Given the description of an element on the screen output the (x, y) to click on. 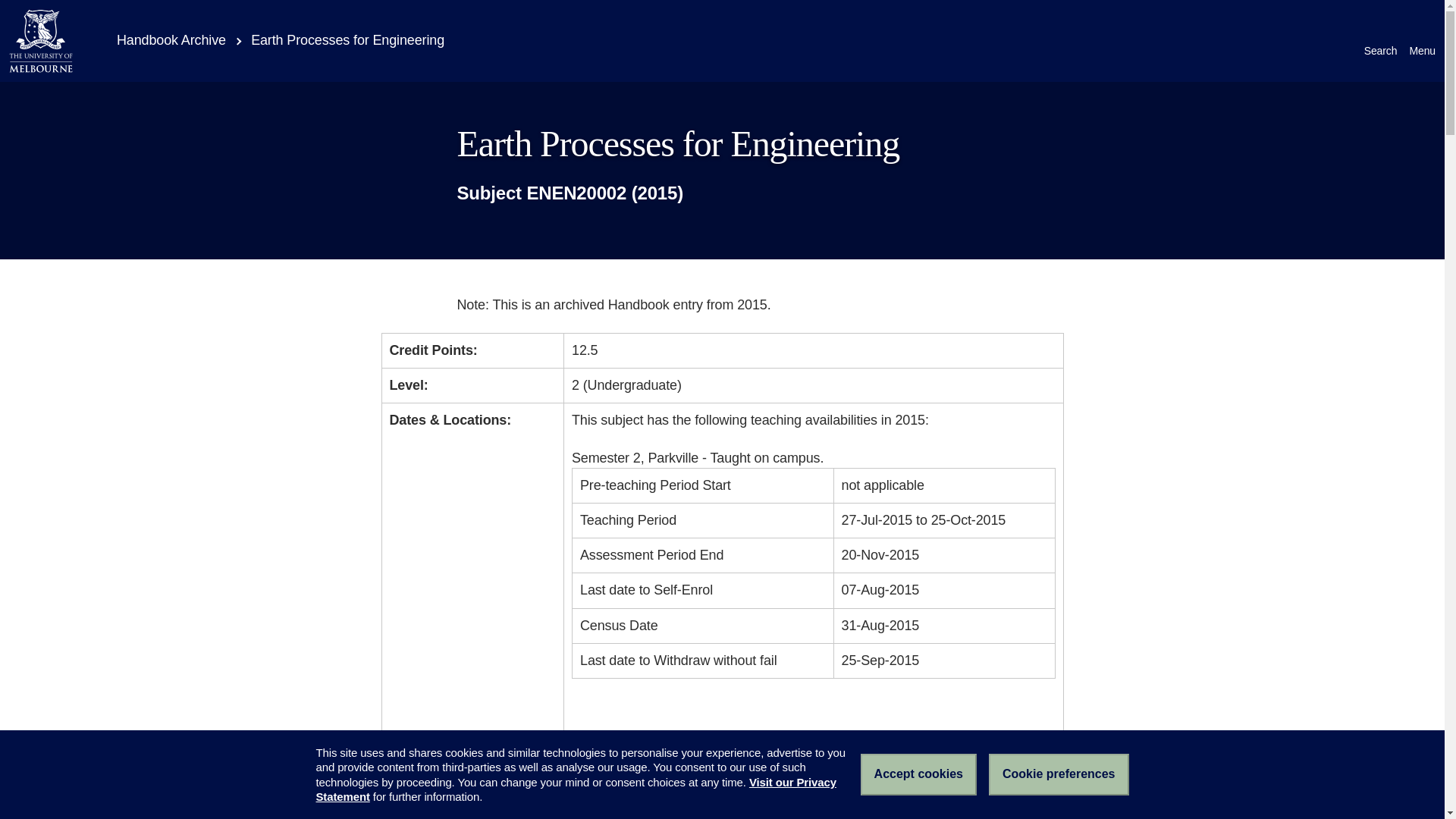
here (737, 743)
Search (1380, 40)
Handbook Archive (161, 39)
Handbook Archive (161, 39)
Earth Processes for Engineering (347, 39)
here (1011, 743)
Search (1380, 40)
Earth Processes for Engineering (347, 39)
